Given the description of an element on the screen output the (x, y) to click on. 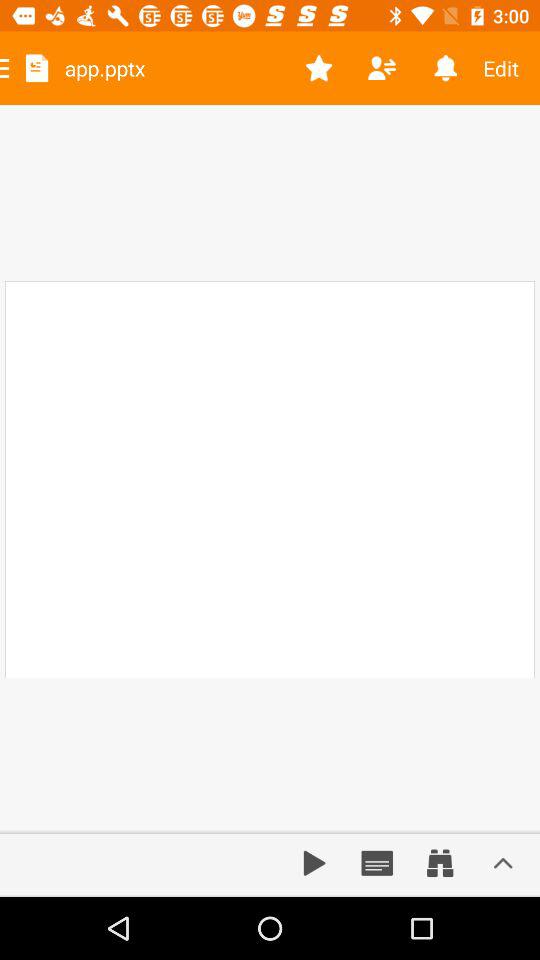
favorite the app (318, 68)
